Given the description of an element on the screen output the (x, y) to click on. 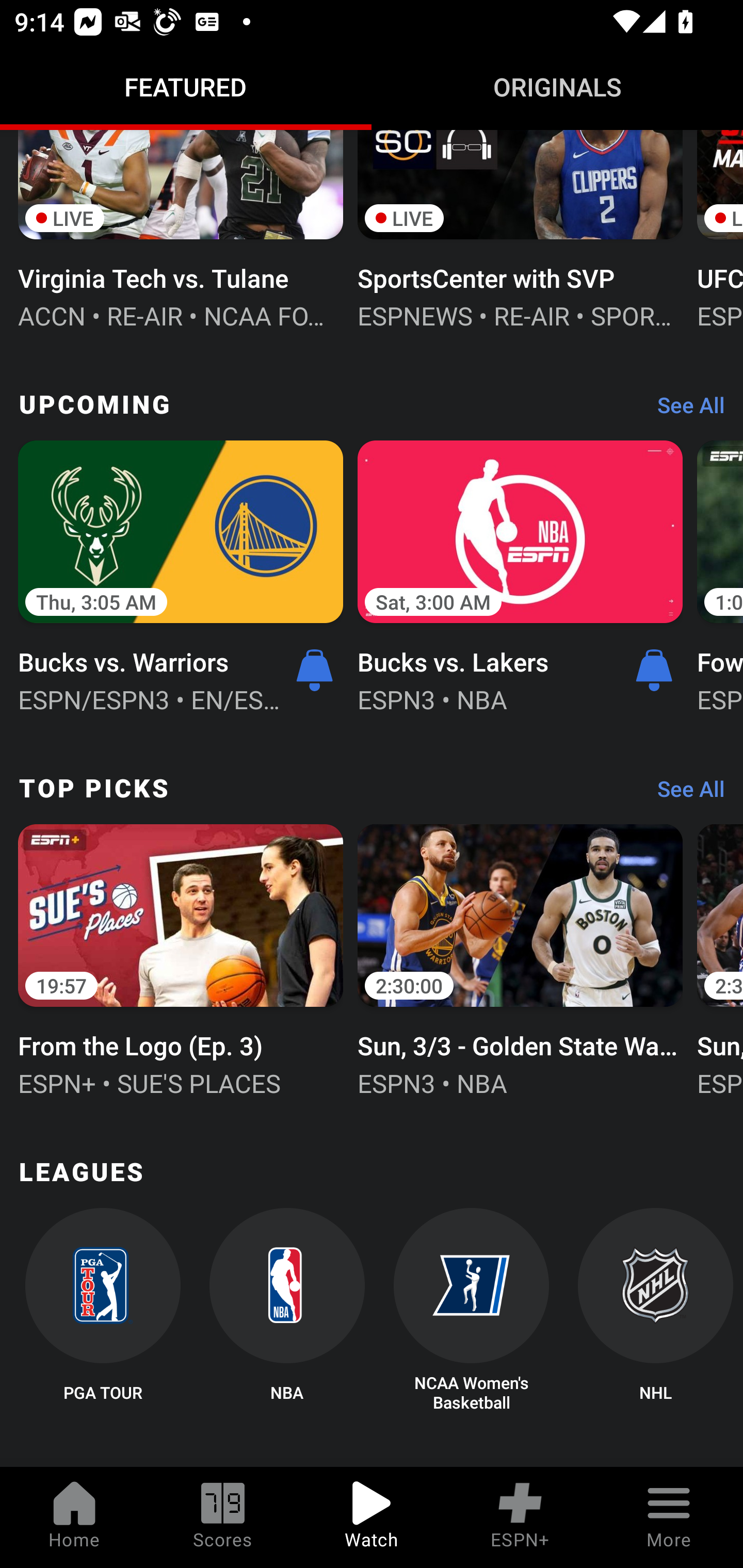
Originals ORIGINALS (557, 86)
See All (683, 409)
See All (683, 792)
19:57 From the Logo (Ep. 3) ESPN+ • SUE'S PLACES (180, 958)
PGA TOUR (102, 1310)
NBA (286, 1310)
NCAA Women's Basketball (471, 1310)
NHL (655, 1310)
Home (74, 1517)
Scores (222, 1517)
ESPN+ (519, 1517)
More (668, 1517)
